Given the description of an element on the screen output the (x, y) to click on. 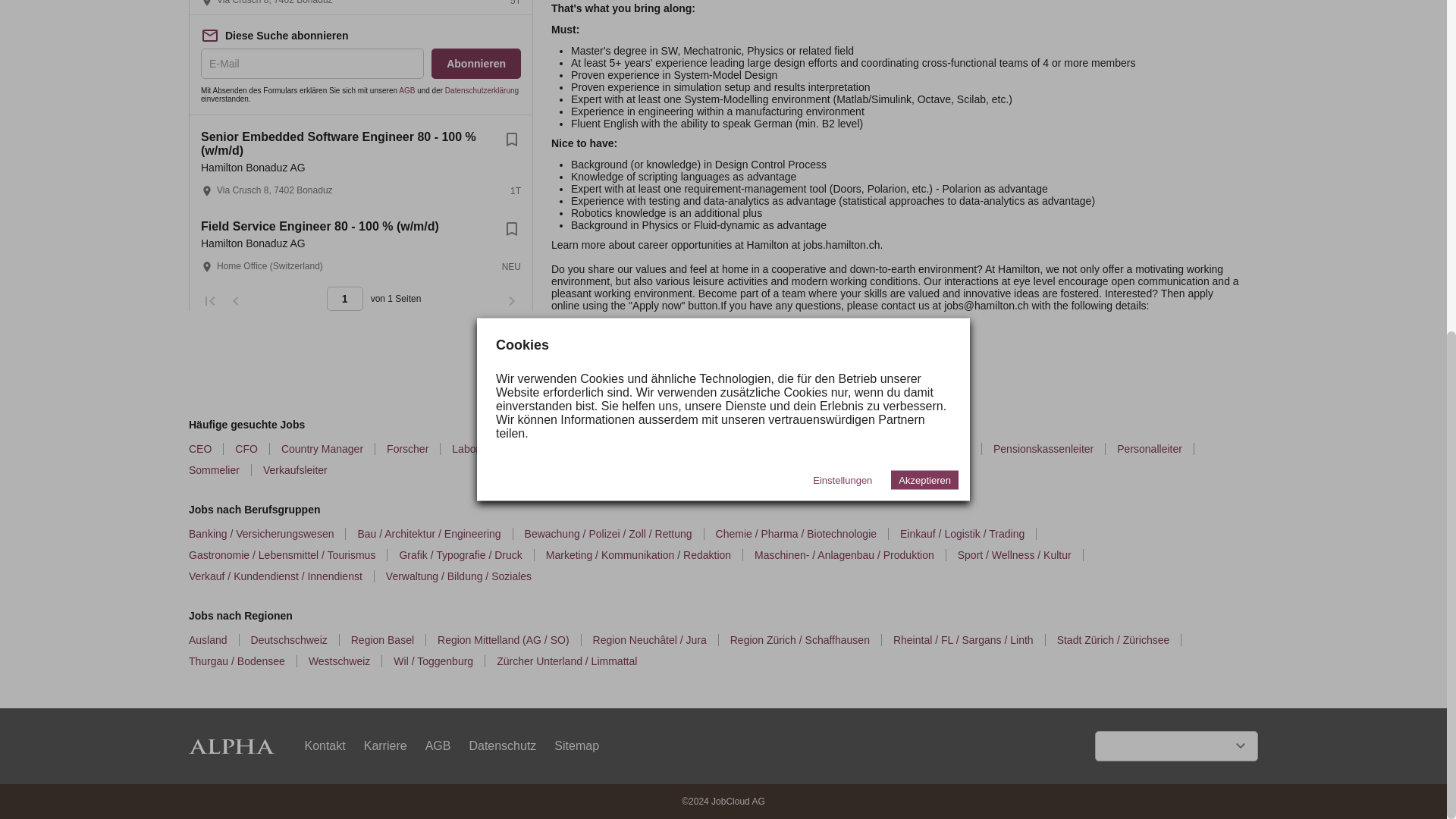
Pensionskassenleiter jobs (1048, 449)
Country Manager (328, 449)
Personalleiter jobs (1154, 449)
Verkaufsleiter jobs (301, 469)
Forscher jobs (414, 449)
CFO (251, 449)
CEO jobs (206, 449)
Abonnieren (475, 63)
Leiter Controlling (571, 449)
Laborleiter (482, 449)
AGB (406, 90)
1 (344, 298)
jobs.hamilton.ch (841, 244)
Sommelier jobs (220, 469)
Leiter Innovations- und Technologie-Management jobs (858, 449)
